Given the description of an element on the screen output the (x, y) to click on. 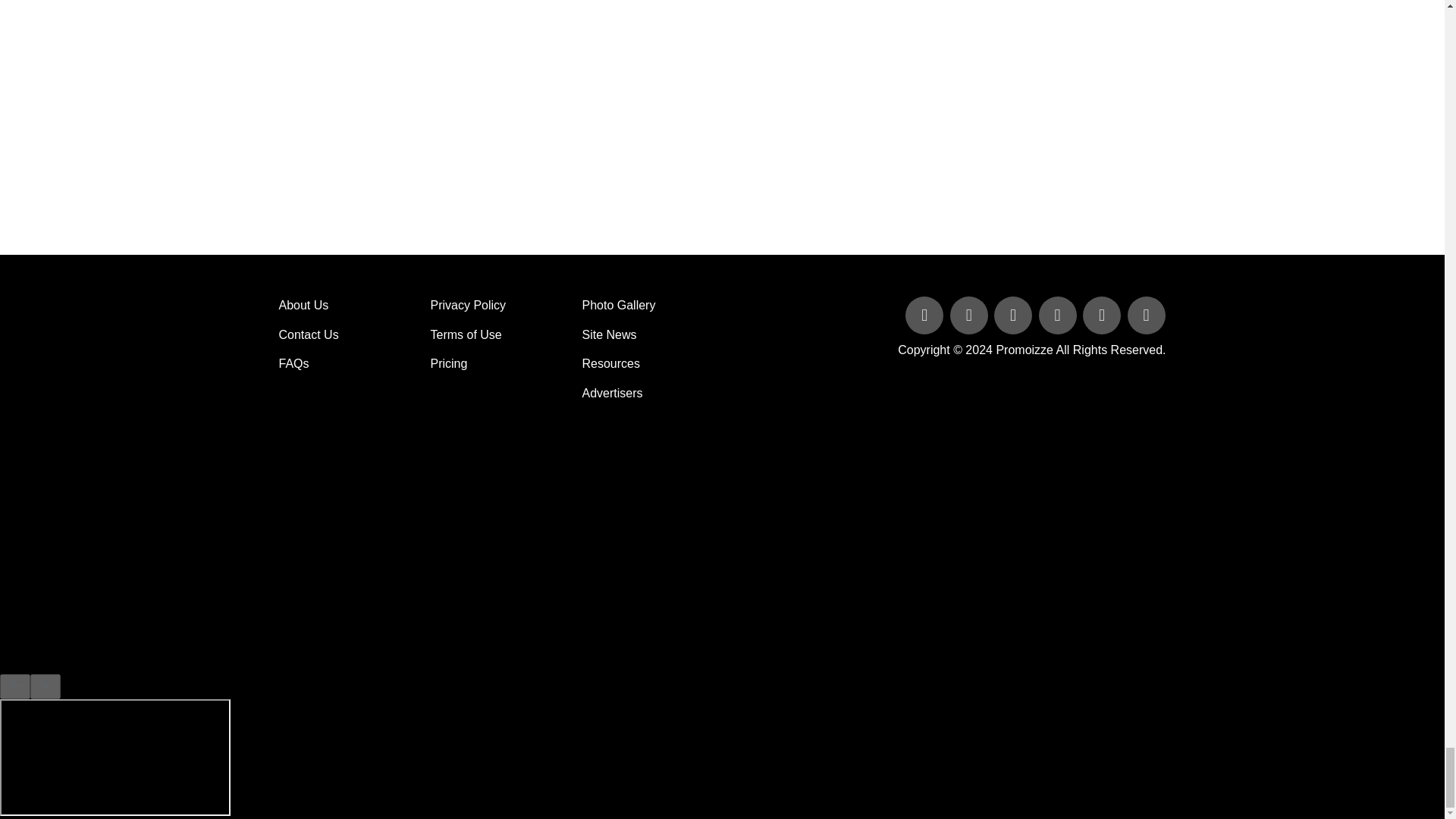
Follow Us on Instagram (1145, 316)
Follow Us on Twitter (970, 316)
Follow Us on Facebook (925, 316)
Follow Us on You Tube (1058, 316)
Follow Us on Pinterest (1103, 316)
Follow Us on Linked In (1014, 316)
